Given the description of an element on the screen output the (x, y) to click on. 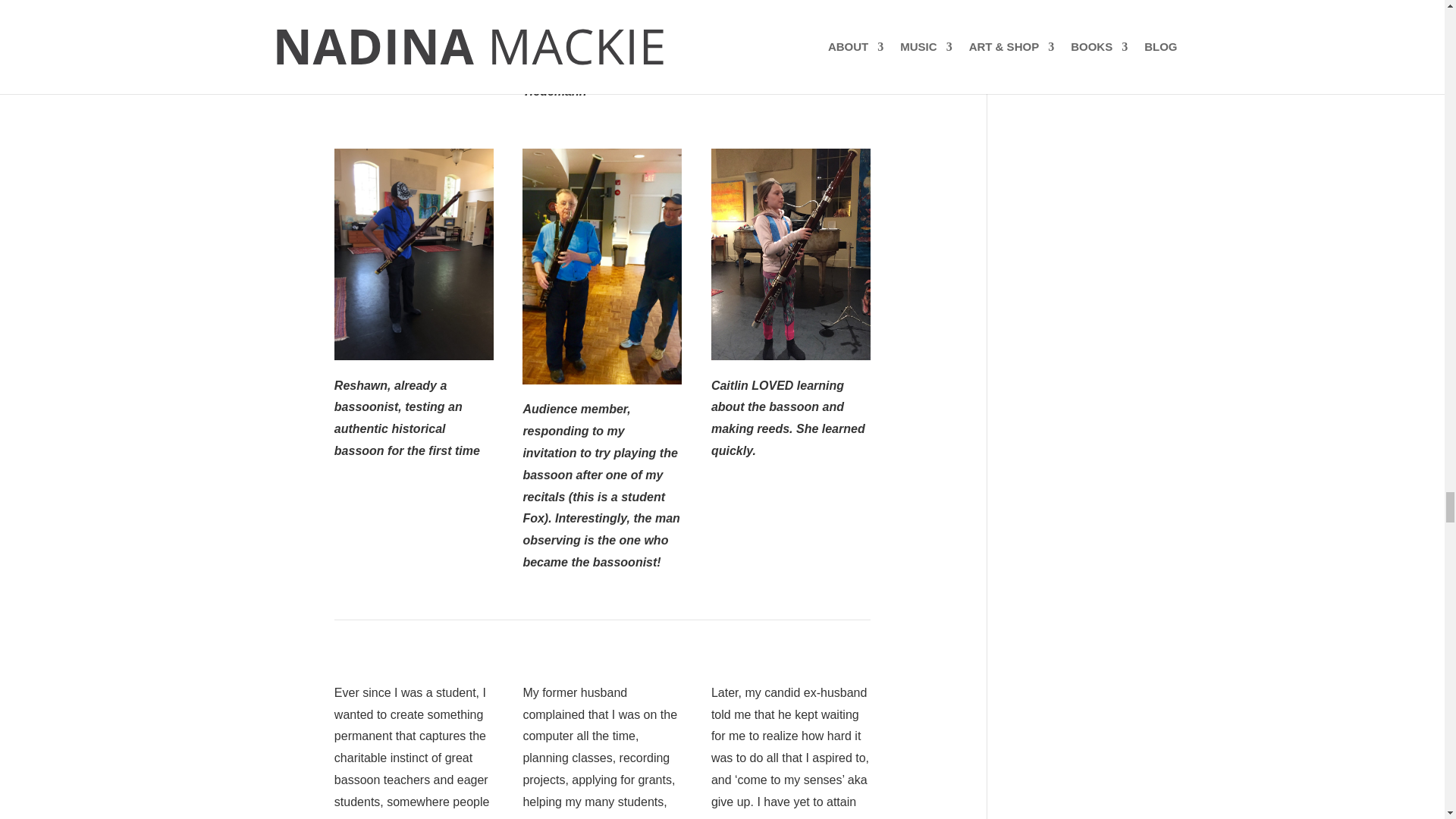
Nadina photo by Cylla von Tiedemann (601, 22)
